Given the description of an element on the screen output the (x, y) to click on. 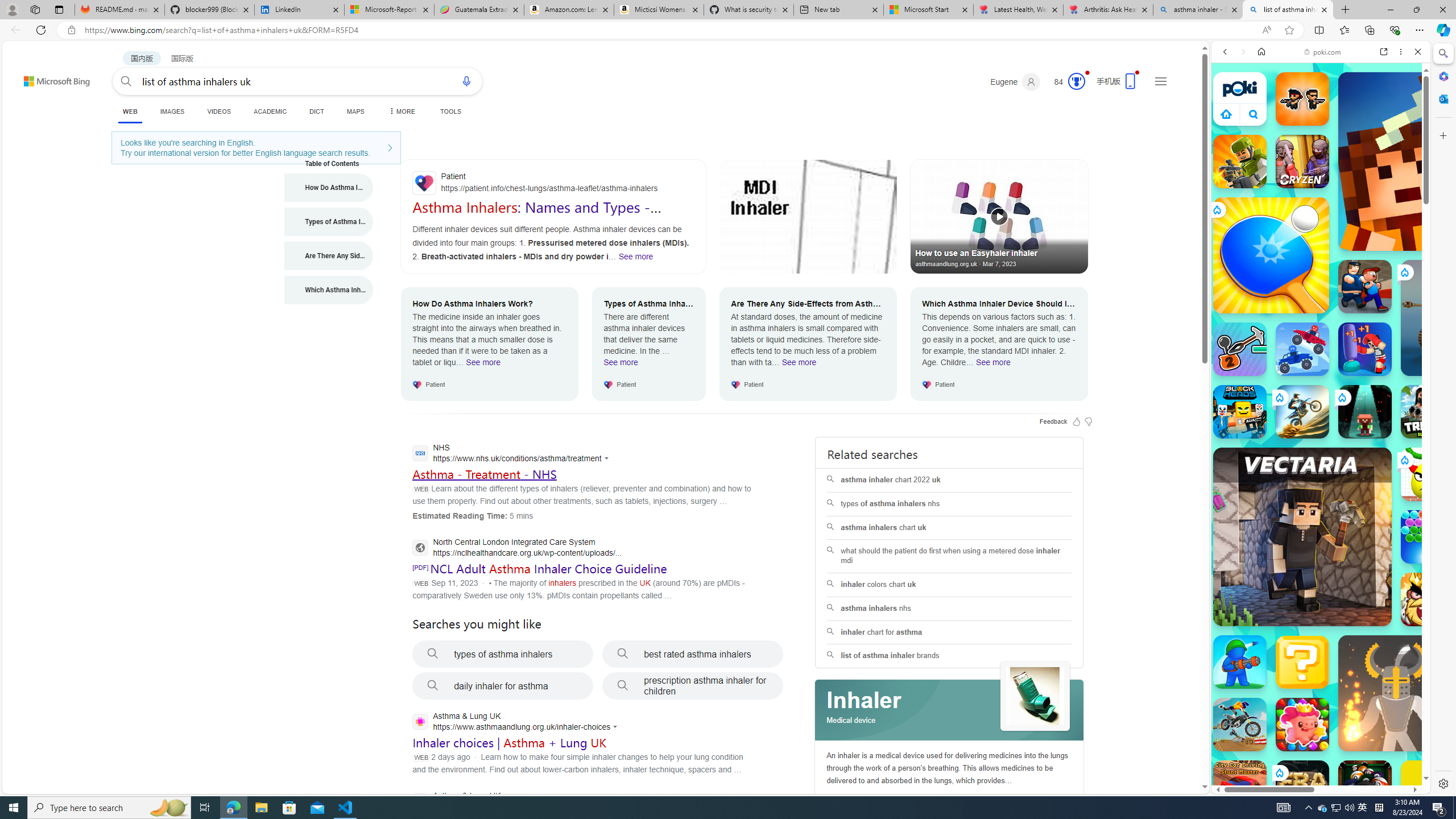
Kour.io (1239, 161)
Forward (1242, 51)
Escape From School (1364, 286)
North Central London Integrated Care System (516, 549)
Search the web (1326, 78)
WEB (129, 111)
LinkedIn (298, 9)
WEB (129, 112)
VIDEOS (218, 111)
